Given the description of an element on the screen output the (x, y) to click on. 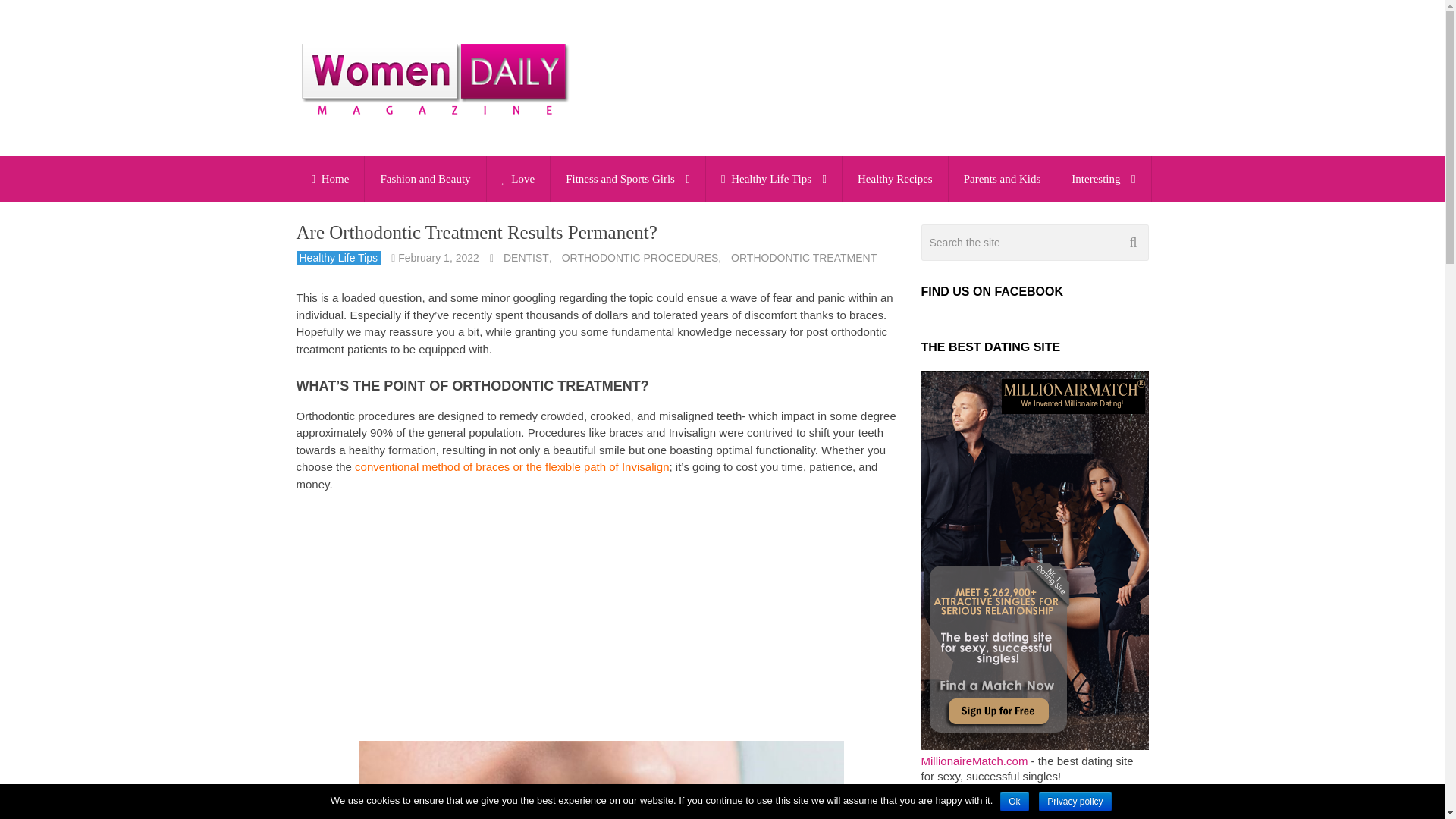
ORTHODONTIC PROCEDURES (639, 257)
Healthy Recipes (895, 178)
MillionaireMatch.com (973, 760)
Parents and Kids (1003, 178)
Fitness and Sports Girls (627, 178)
Advertisement (601, 617)
Home (329, 178)
Healthy Life Tips (773, 178)
Interesting (1103, 178)
Love (518, 178)
ORTHODONTIC TREATMENT (802, 257)
Fashion and Beauty (424, 178)
Healthy Life Tips (337, 257)
View all posts in Healthy Life Tips (337, 257)
